Given the description of an element on the screen output the (x, y) to click on. 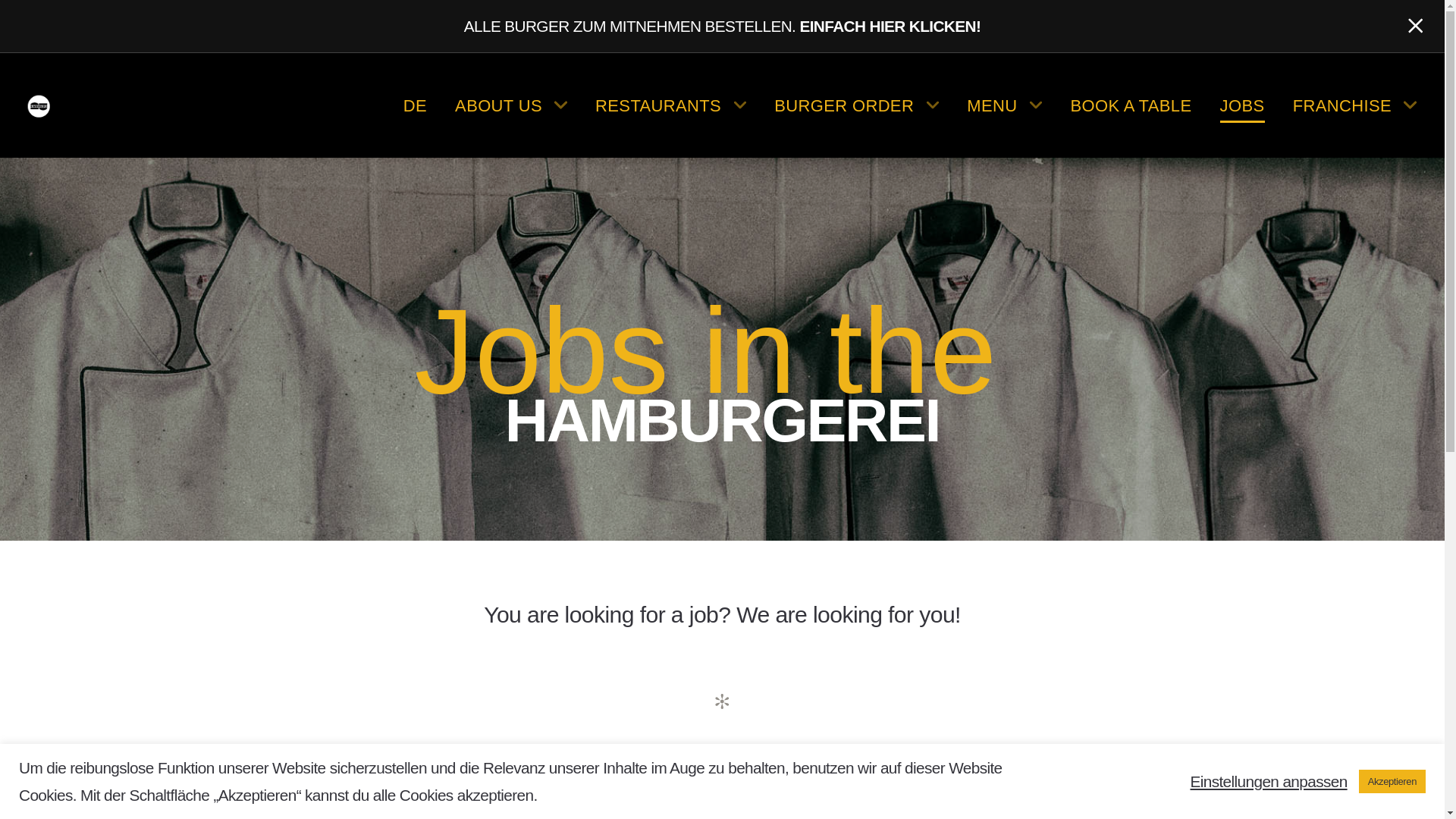
MENU (1004, 102)
FRANCHISE (1354, 102)
JOBS (1242, 102)
ABOUT US (510, 102)
RESTAURANTS (670, 102)
BURGER ORDER (856, 102)
BOOK A TABLE (1130, 102)
